Given the description of an element on the screen output the (x, y) to click on. 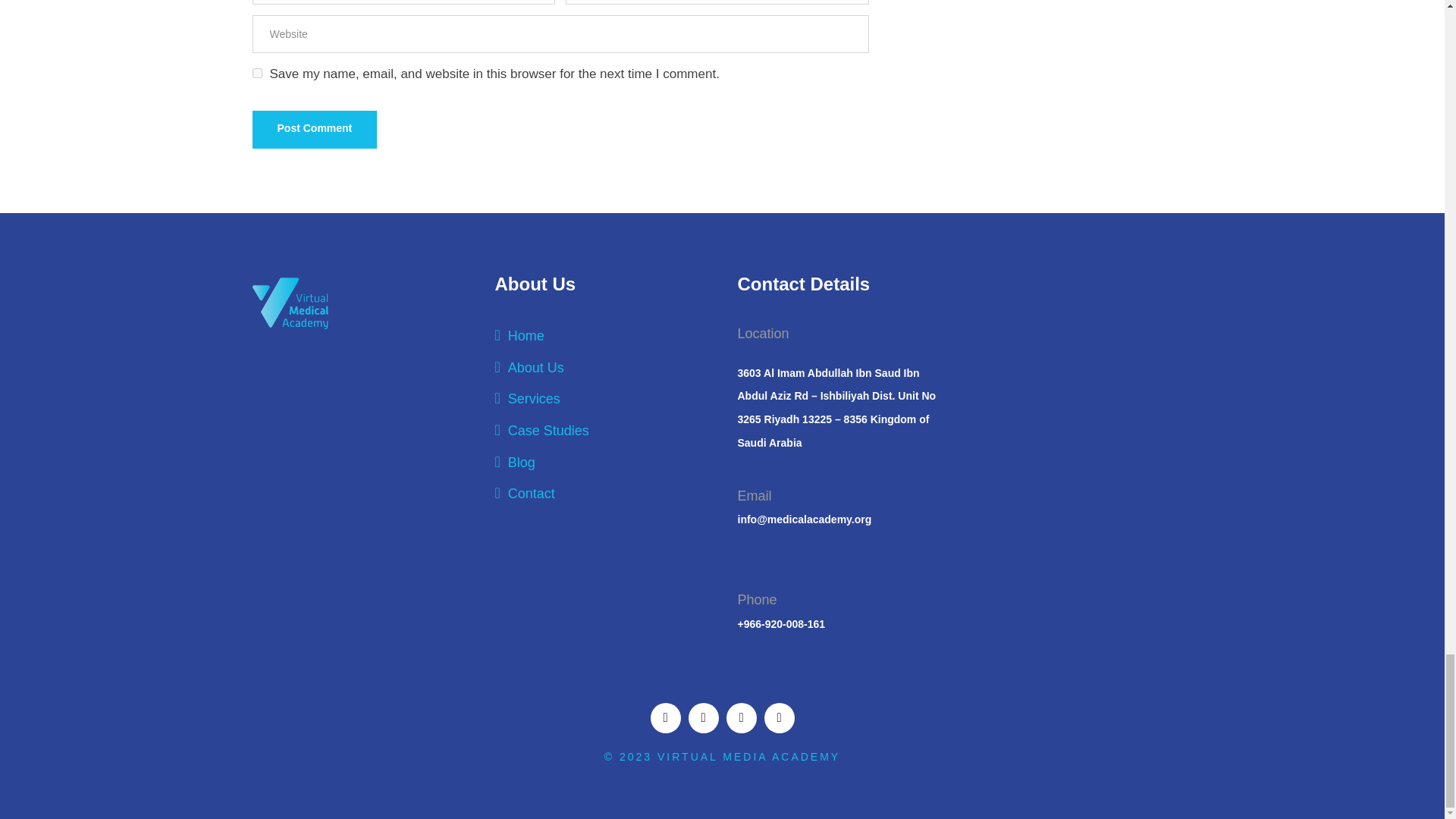
yes (256, 72)
facebook (665, 717)
Post Comment (314, 129)
instagram (779, 717)
twitter (741, 717)
linkedin (703, 717)
